Given the description of an element on the screen output the (x, y) to click on. 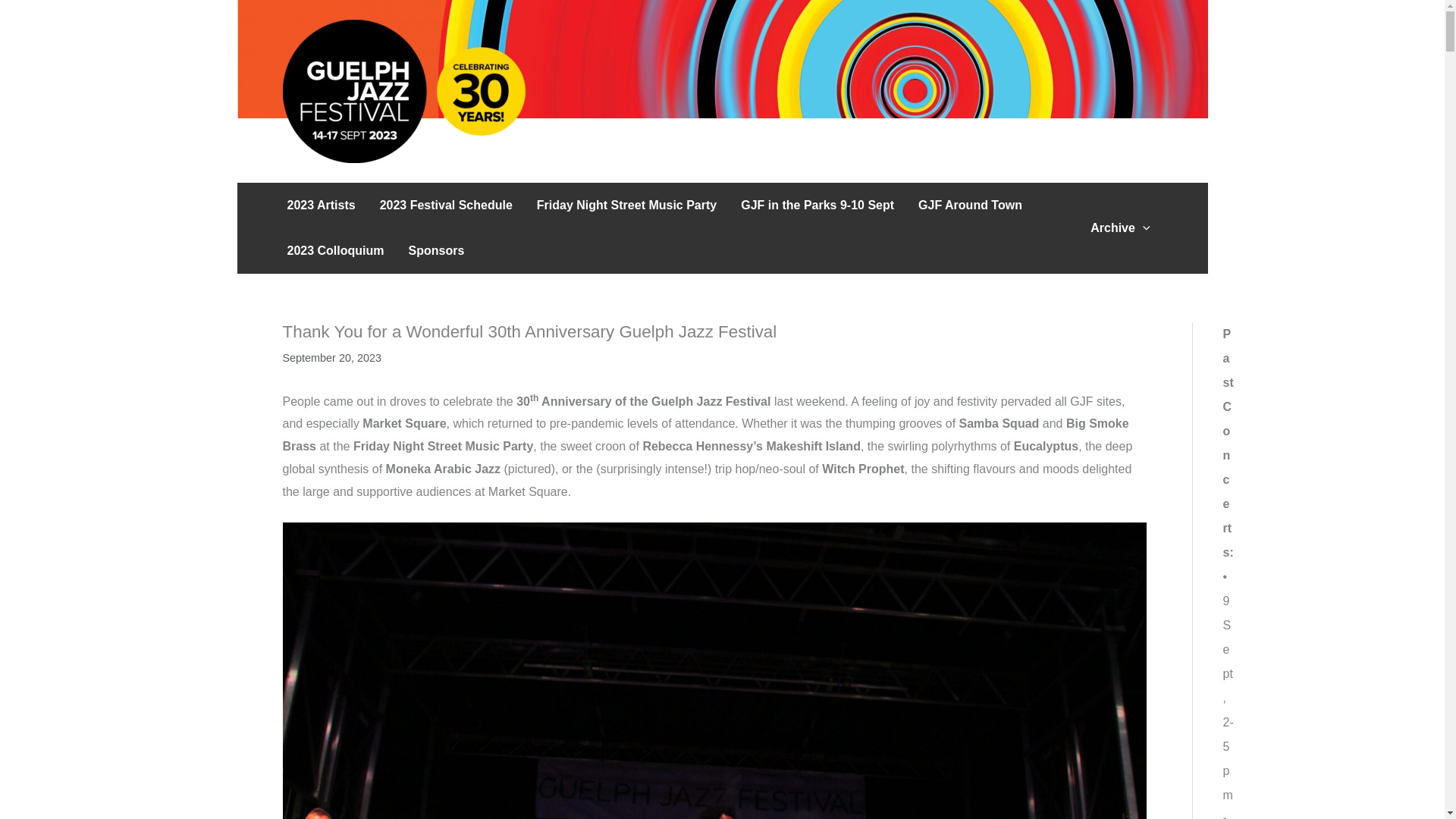
GJF Around Town (969, 205)
2023 Colloquium (335, 250)
GJF in the Parks 9-10 Sept (817, 205)
Sponsors (436, 250)
2023 Artists (320, 205)
2023 Festival Schedule (446, 205)
Friday Night Street Music Party (626, 205)
Archive (1119, 227)
